Given the description of an element on the screen output the (x, y) to click on. 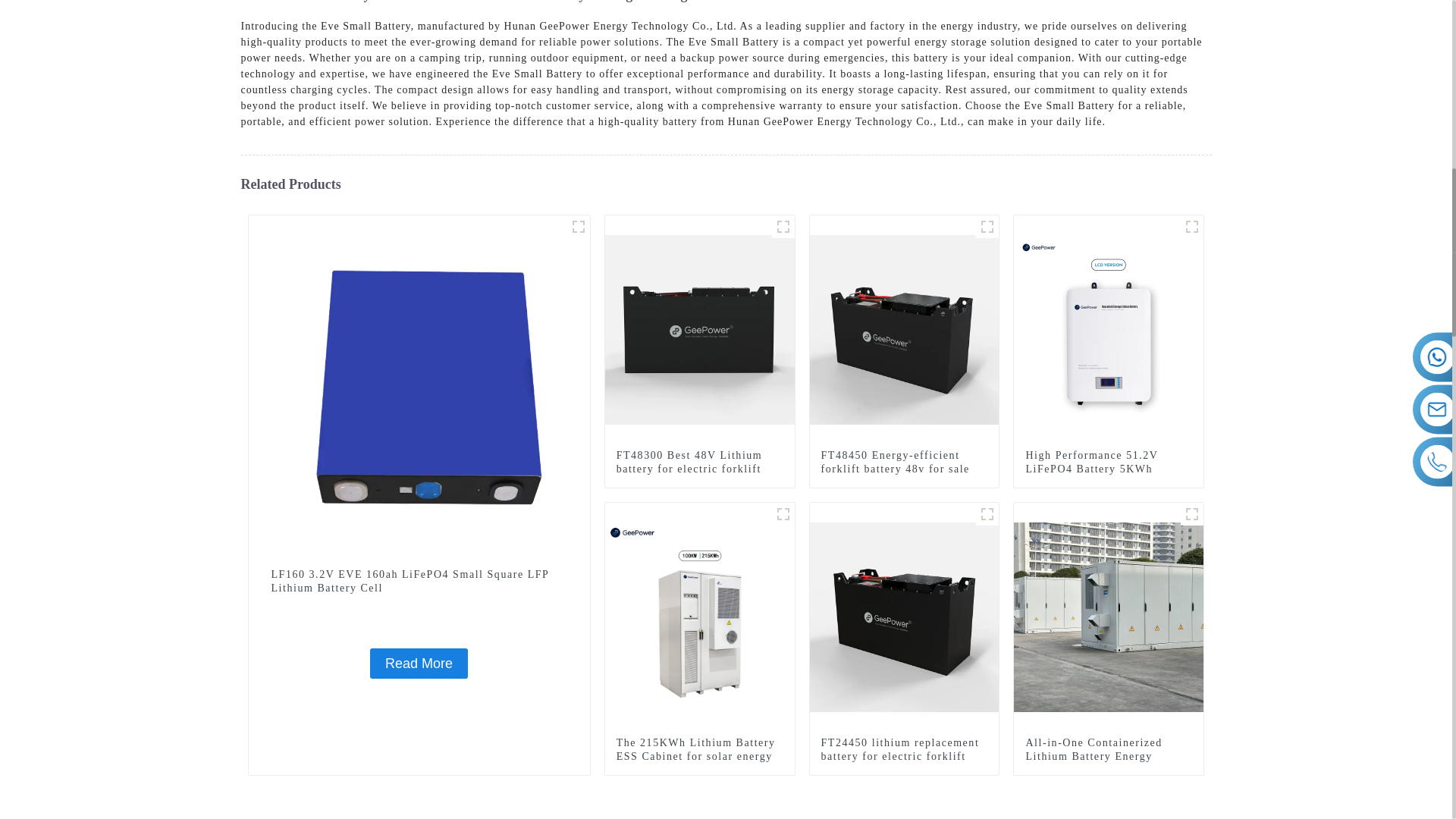
FT48450 Energy-efficient forklift battery 48v for sale (904, 461)
FT24450 lithium replacement battery for electric forklift (903, 616)
FT48300 Best 48V Lithium battery for electric forklift  (699, 328)
FT48300 Best 48V Lithium battery for electric forklift  (699, 461)
untitled.983 (986, 226)
GeePower Wall-Mounted ESS Main 1 LCD (1192, 226)
FT48450 Energy-efficient forklift battery 48v for sale (903, 328)
